Given the description of an element on the screen output the (x, y) to click on. 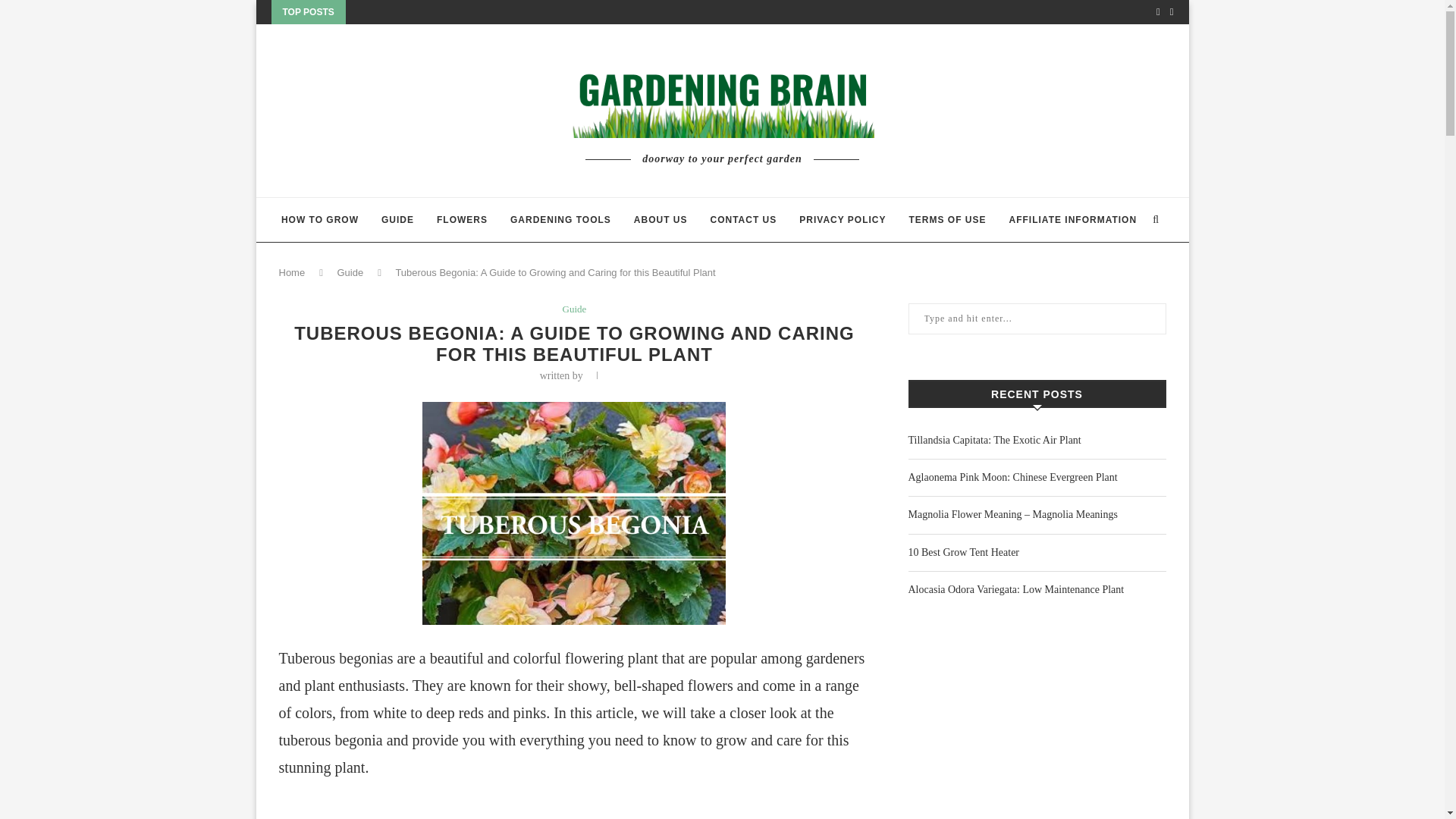
Guide (349, 272)
GARDENING TOOLS (561, 219)
Guide (574, 309)
Home (292, 272)
CONTACT US (743, 219)
ABOUT US (660, 219)
AFFILIATE INFORMATION (1073, 219)
FLOWERS (461, 219)
HOW TO GROW (319, 219)
TERMS OF USE (947, 219)
